Given the description of an element on the screen output the (x, y) to click on. 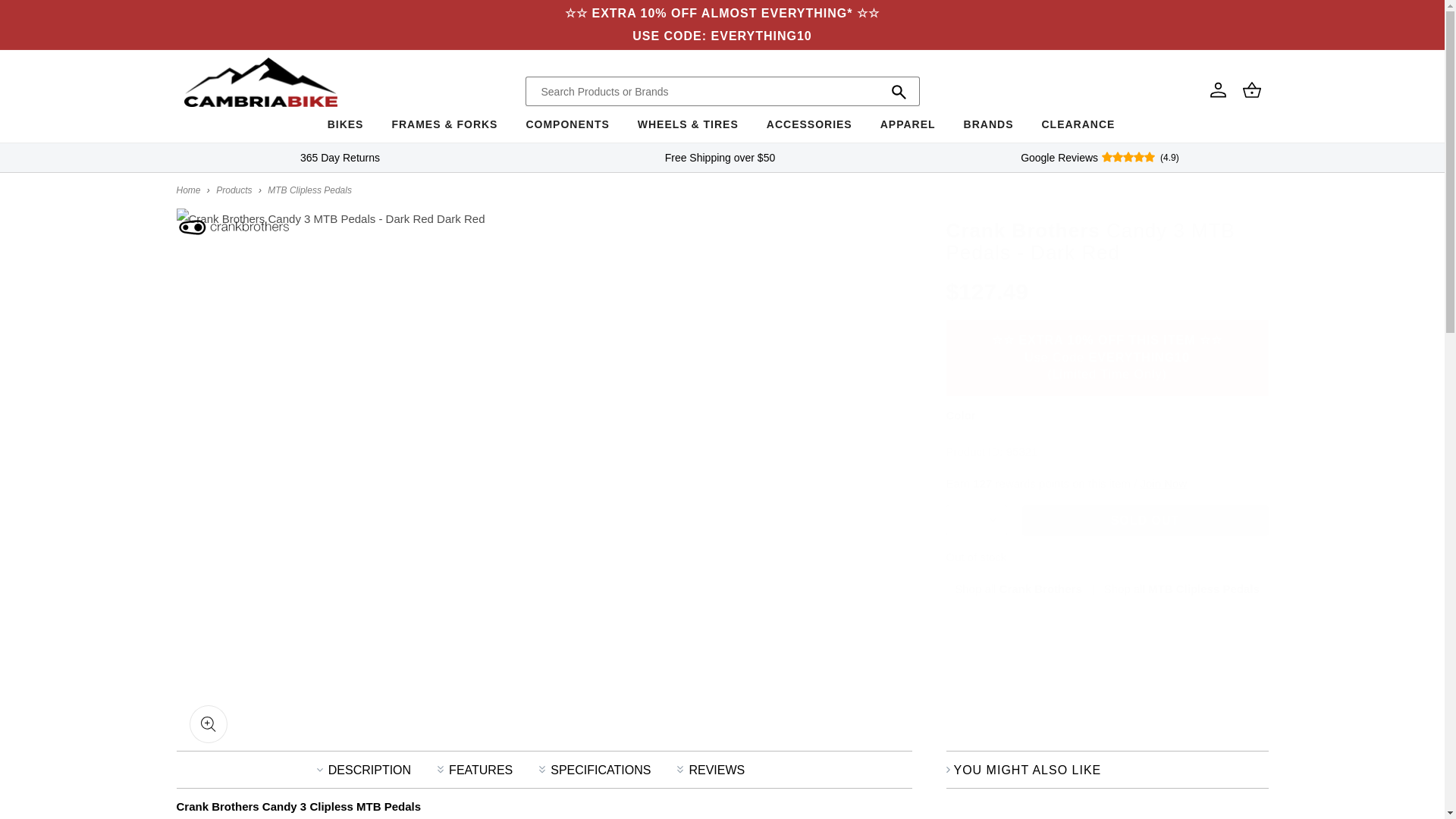
Cambria Bike (188, 190)
MTB Clipless Pedals (309, 190)
Skip to content (45, 17)
MTB Clipless Pedals (1181, 588)
Products (233, 190)
